Given the description of an element on the screen output the (x, y) to click on. 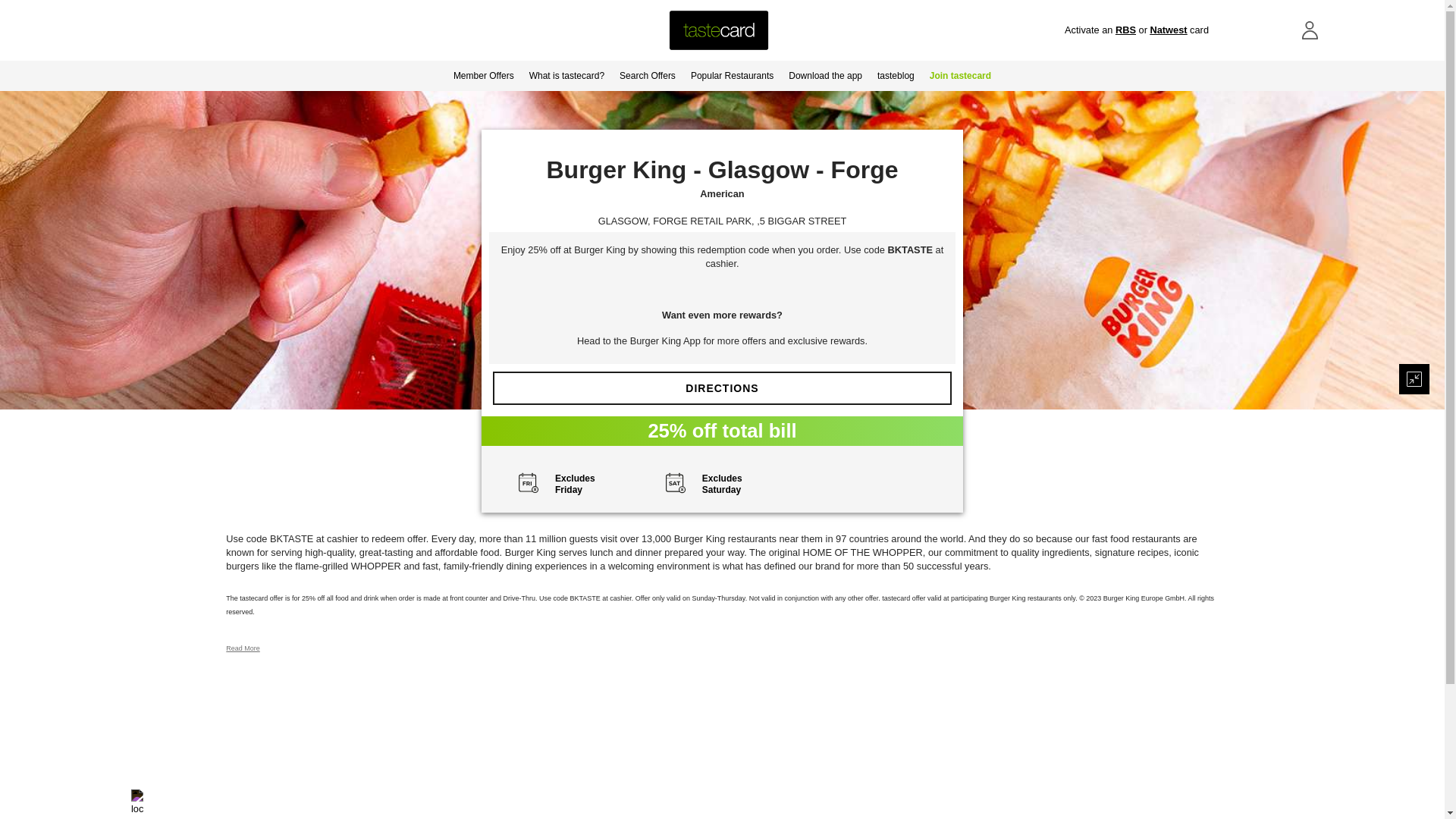
DIRECTIONS (722, 387)
Popular Restaurants (731, 75)
Download the app (824, 75)
RBS (1125, 30)
Member Offers (483, 75)
Search Offers (646, 75)
tasteblog (895, 75)
Natwest (1168, 30)
Join tastecard (959, 75)
What is tastecard? (566, 75)
